Given the description of an element on the screen output the (x, y) to click on. 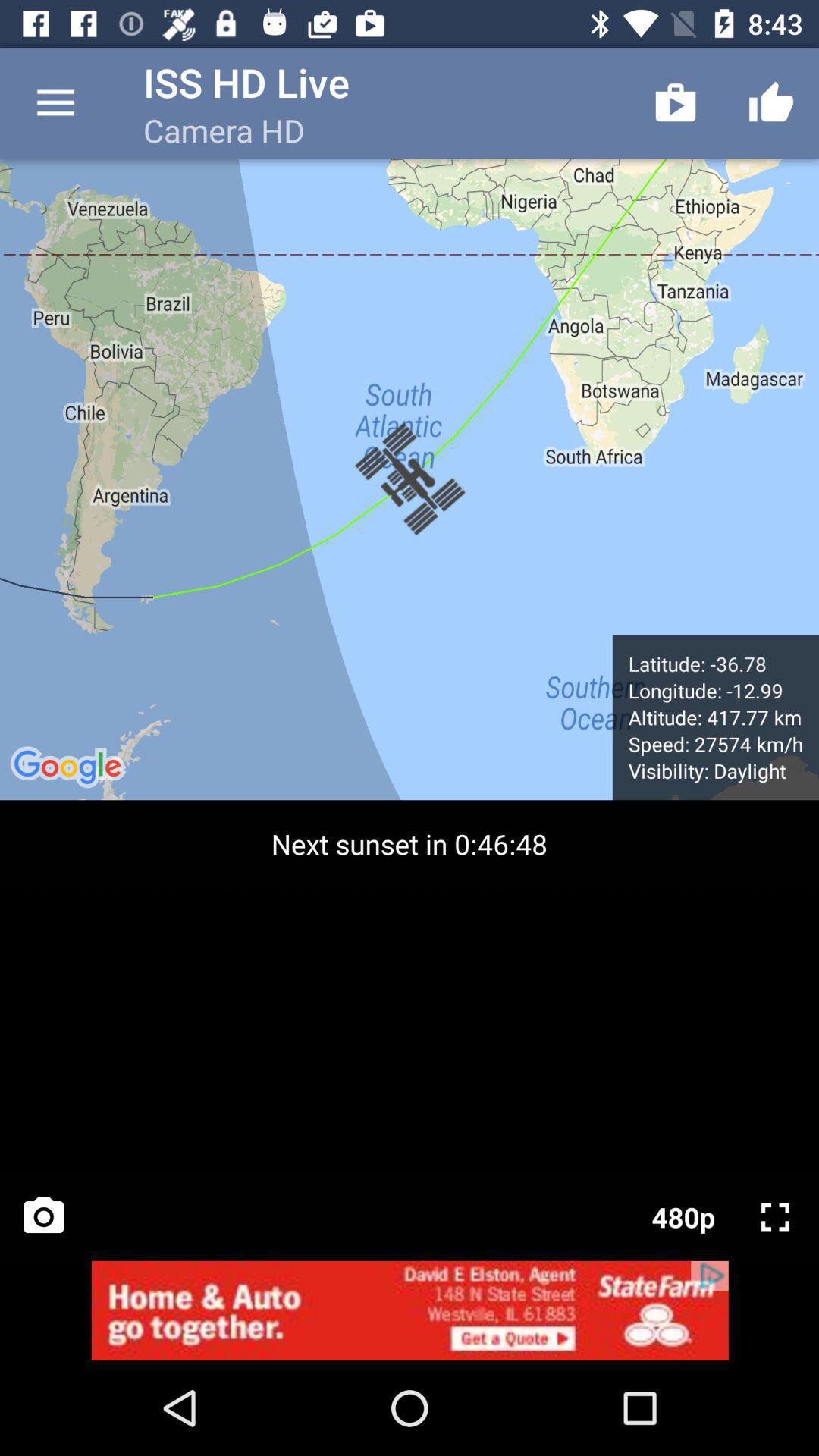
close the add (409, 1310)
